Given the description of an element on the screen output the (x, y) to click on. 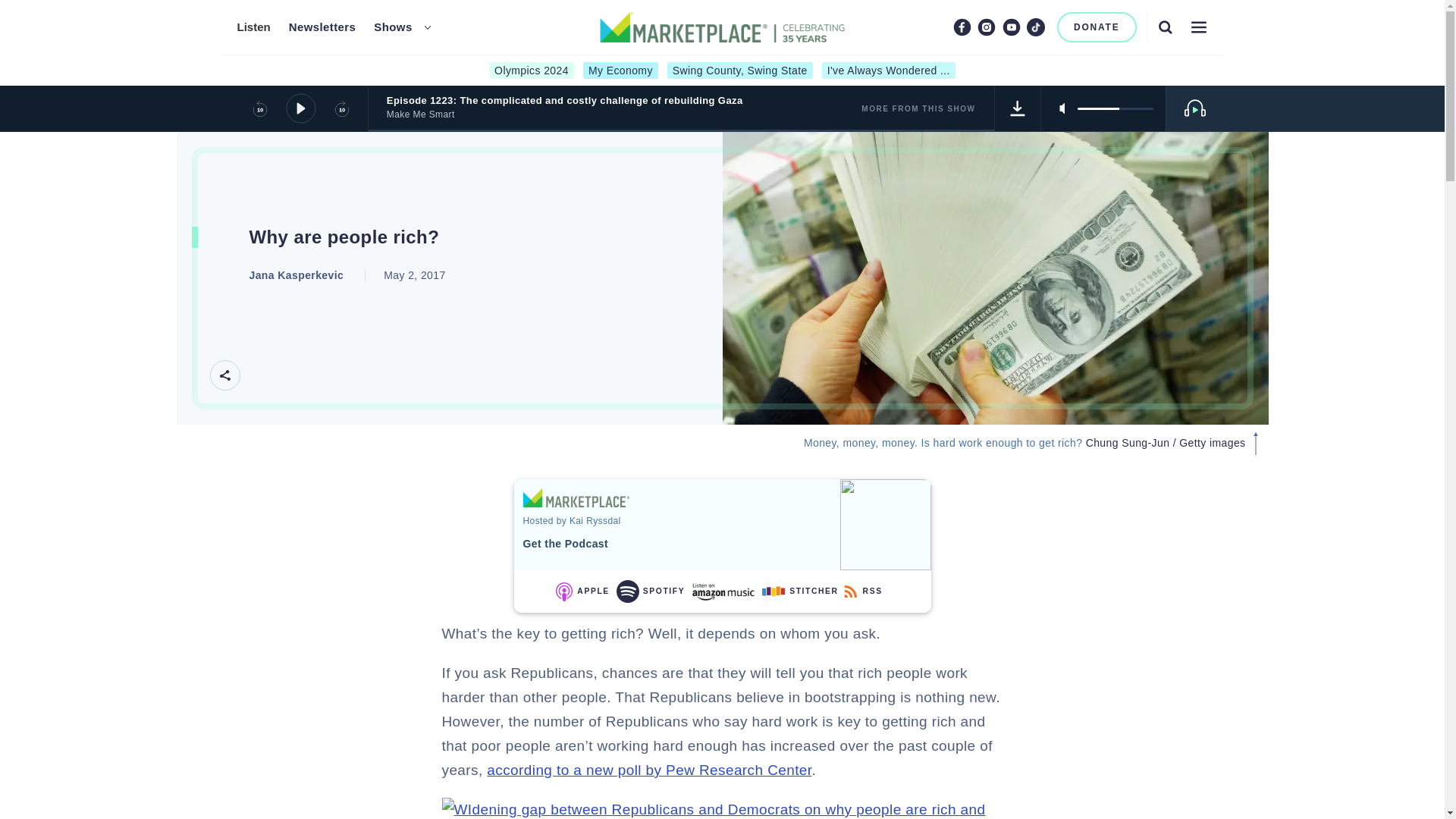
Instagram (985, 27)
Download Track (1017, 108)
Newsletters (322, 27)
Menu (1198, 27)
Search (1164, 27)
volume (1115, 108)
5 (1115, 108)
TikTok (1035, 27)
Youtube (1011, 27)
Shows (393, 26)
